Given the description of an element on the screen output the (x, y) to click on. 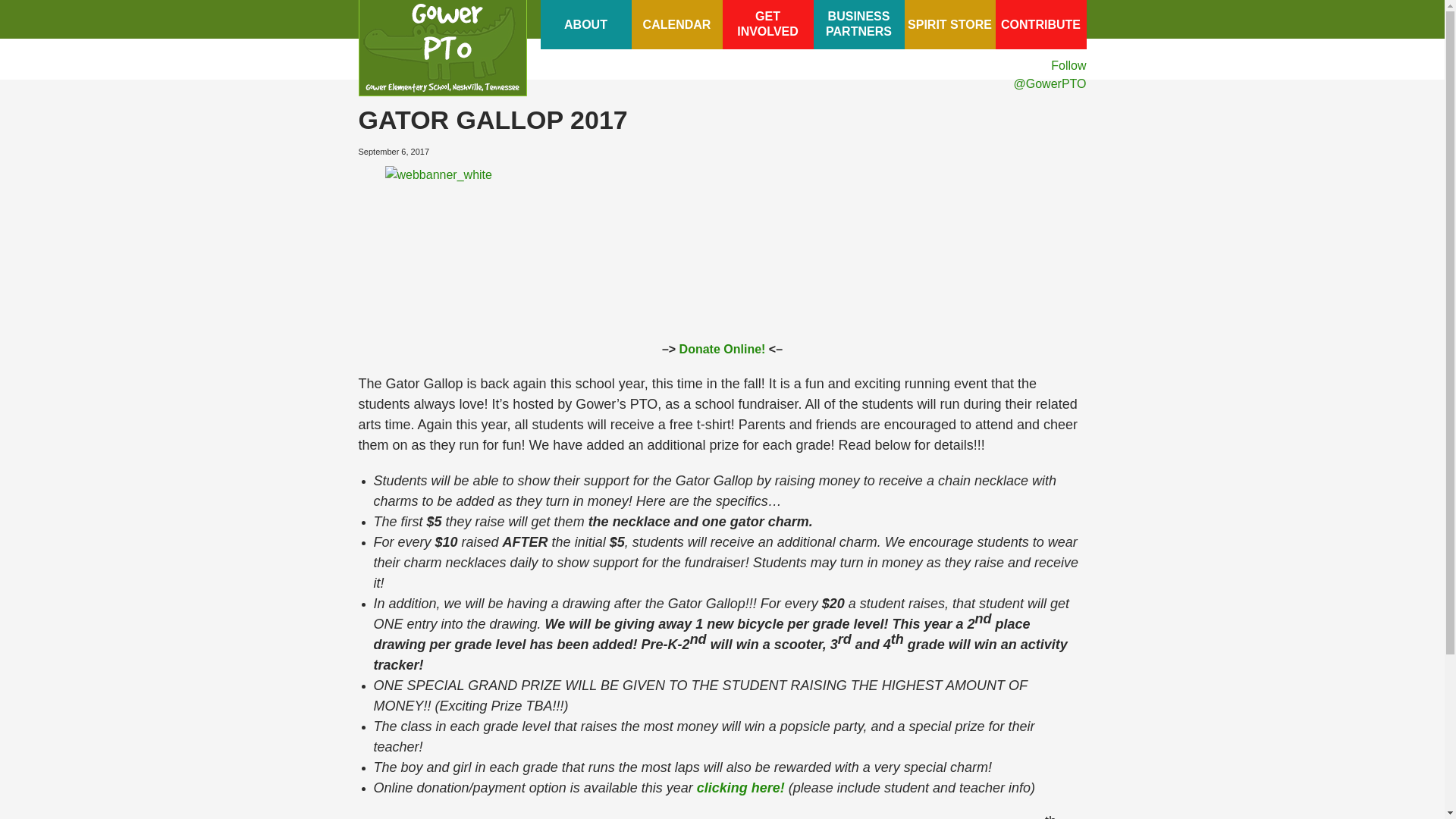
clicking here! (740, 787)
SPIRIT STORE (949, 24)
CONTRIBUTE (1040, 24)
Donate Online! (722, 349)
ABOUT (767, 24)
CALENDAR (858, 24)
